Given the description of an element on the screen output the (x, y) to click on. 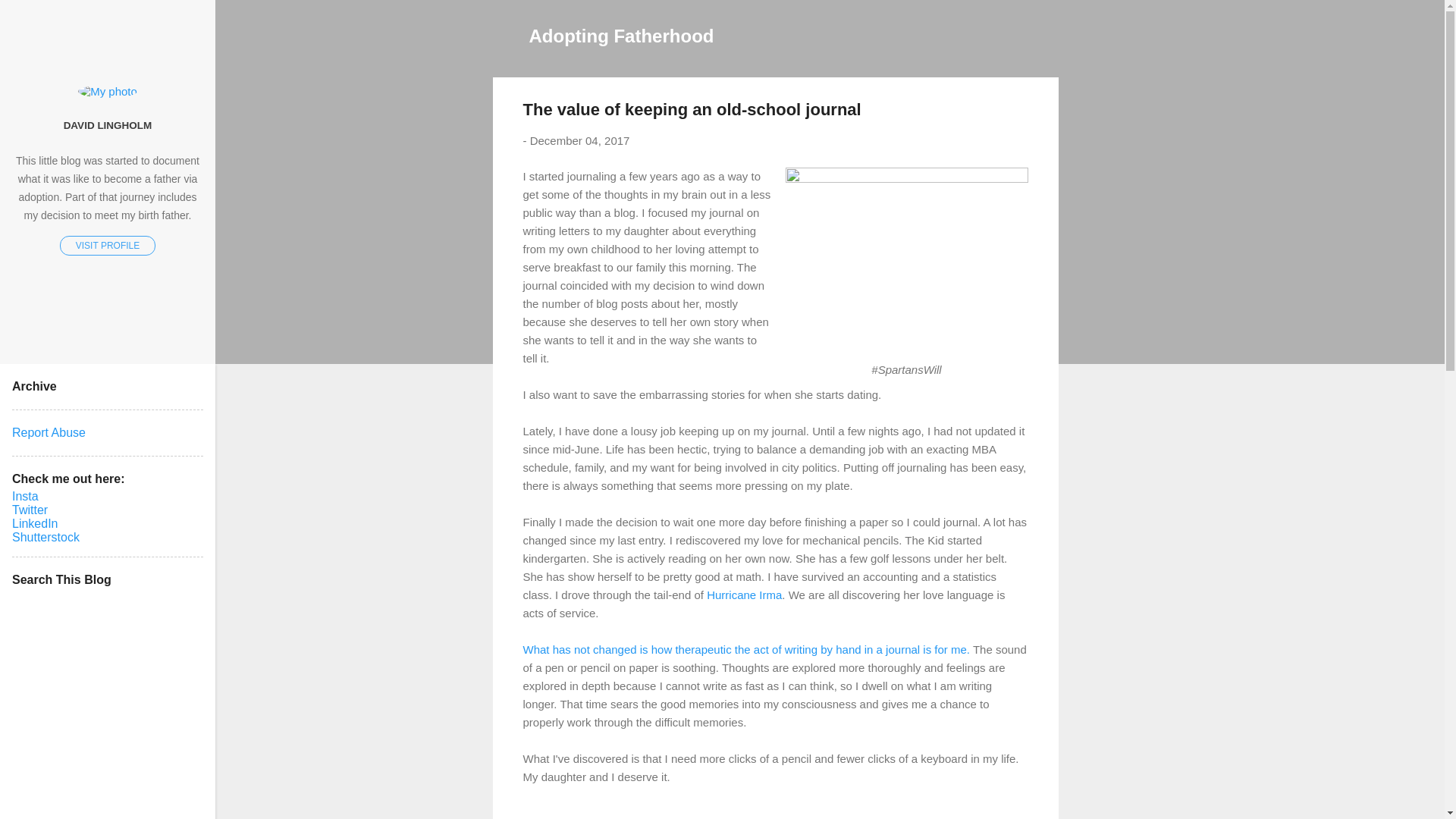
permanent link (579, 140)
VISIT PROFILE (107, 245)
December 04, 2017 (579, 140)
Adopting Fatherhood (621, 35)
Hurricane Irma (743, 594)
DAVID LINGHOLM (107, 124)
Search (29, 18)
